Given the description of an element on the screen output the (x, y) to click on. 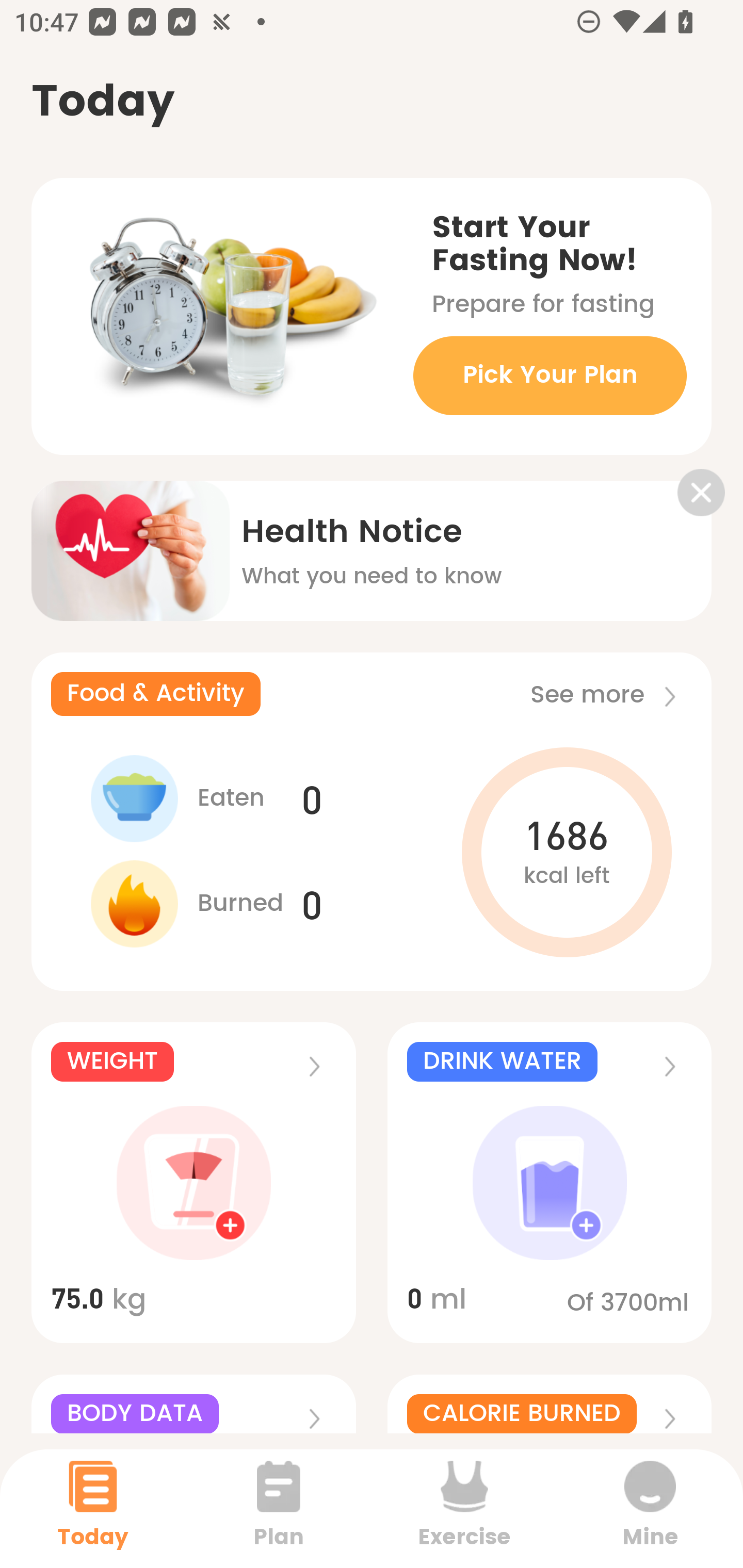
Pick Your Plan (549, 375)
Health Notice What you need to know (371, 537)
WEIGHT 75.0 kg (193, 1182)
DRINK WATER 0 ml Of 3700ml (549, 1182)
BODY DATA (193, 1404)
CALORIE BURNED (549, 1404)
Plan (278, 1508)
Exercise (464, 1508)
Mine (650, 1508)
